Given the description of an element on the screen output the (x, y) to click on. 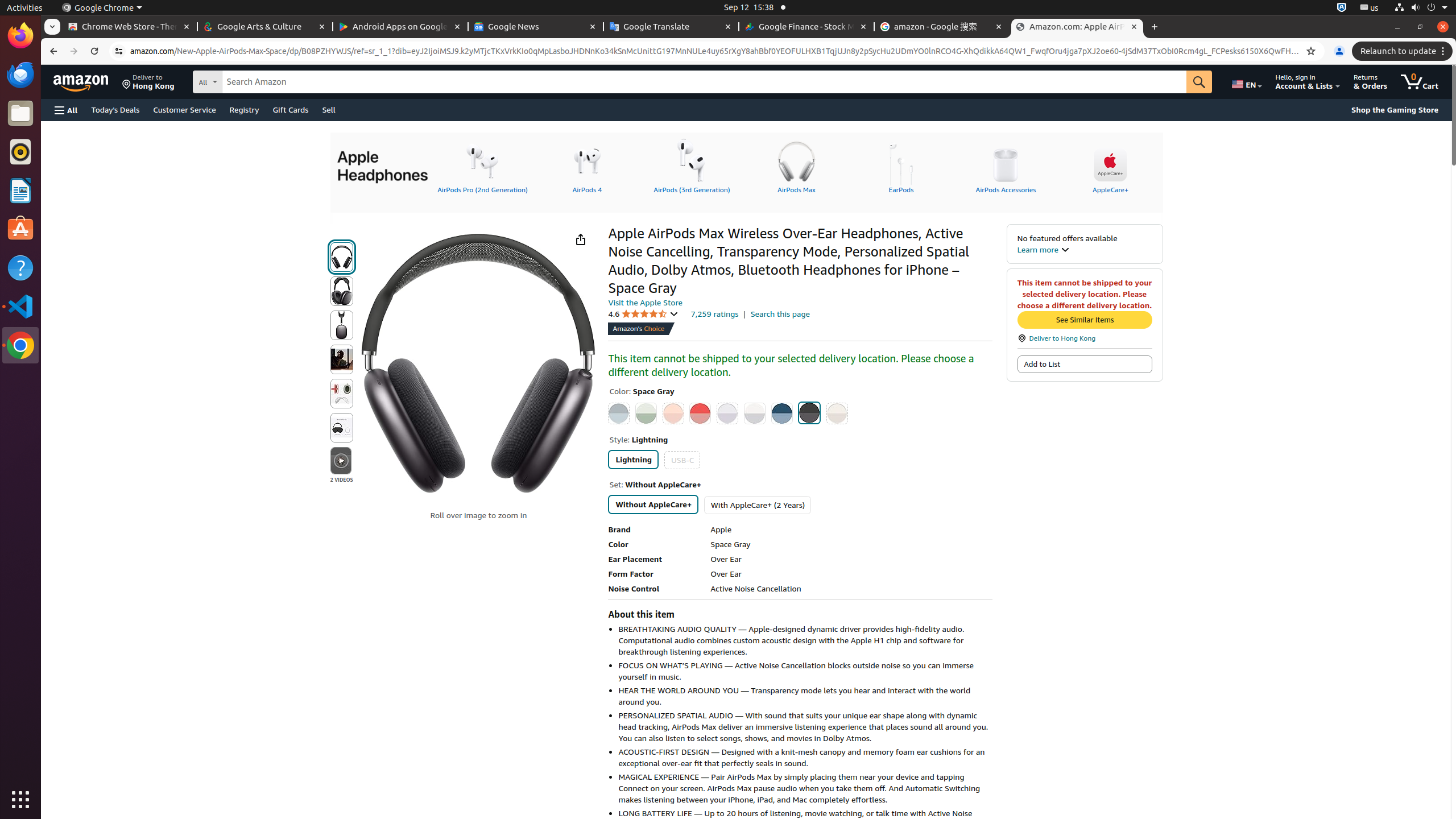
Rhythmbox Element type: push-button (20, 151)
Amazon Element type: link (82, 81)
LibreOffice Writer Element type: push-button (20, 190)
Google Chrome Element type: push-button (20, 344)
Today's Deals Element type: link (115, 109)
